Given the description of an element on the screen output the (x, y) to click on. 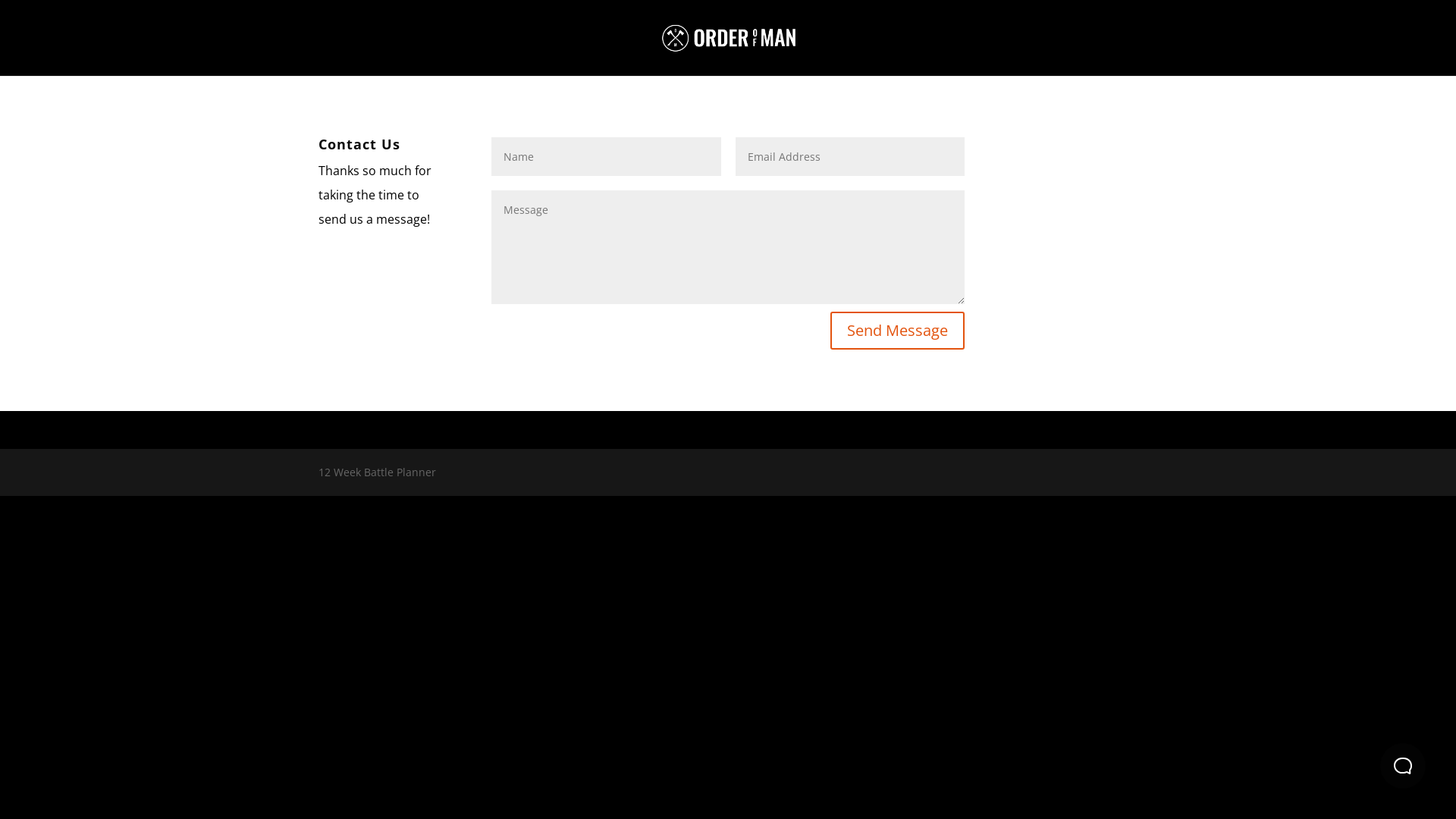
Send Message Element type: text (897, 330)
